Given the description of an element on the screen output the (x, y) to click on. 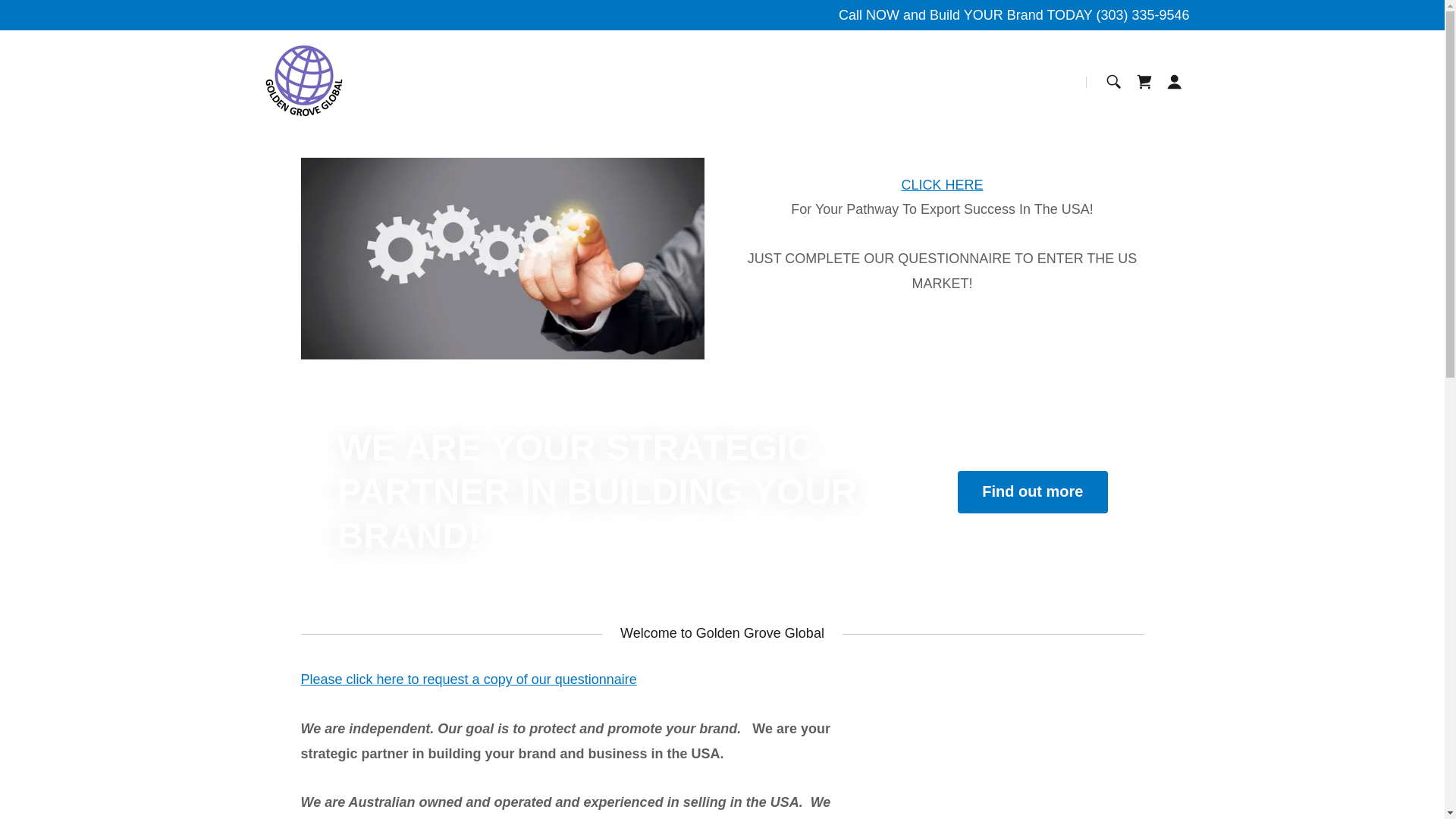
CLICK HERE (941, 184)
Call NOW and Build YOUR Brand TODAY (967, 14)
Golden Grove Global LLC (303, 80)
